Given the description of an element on the screen output the (x, y) to click on. 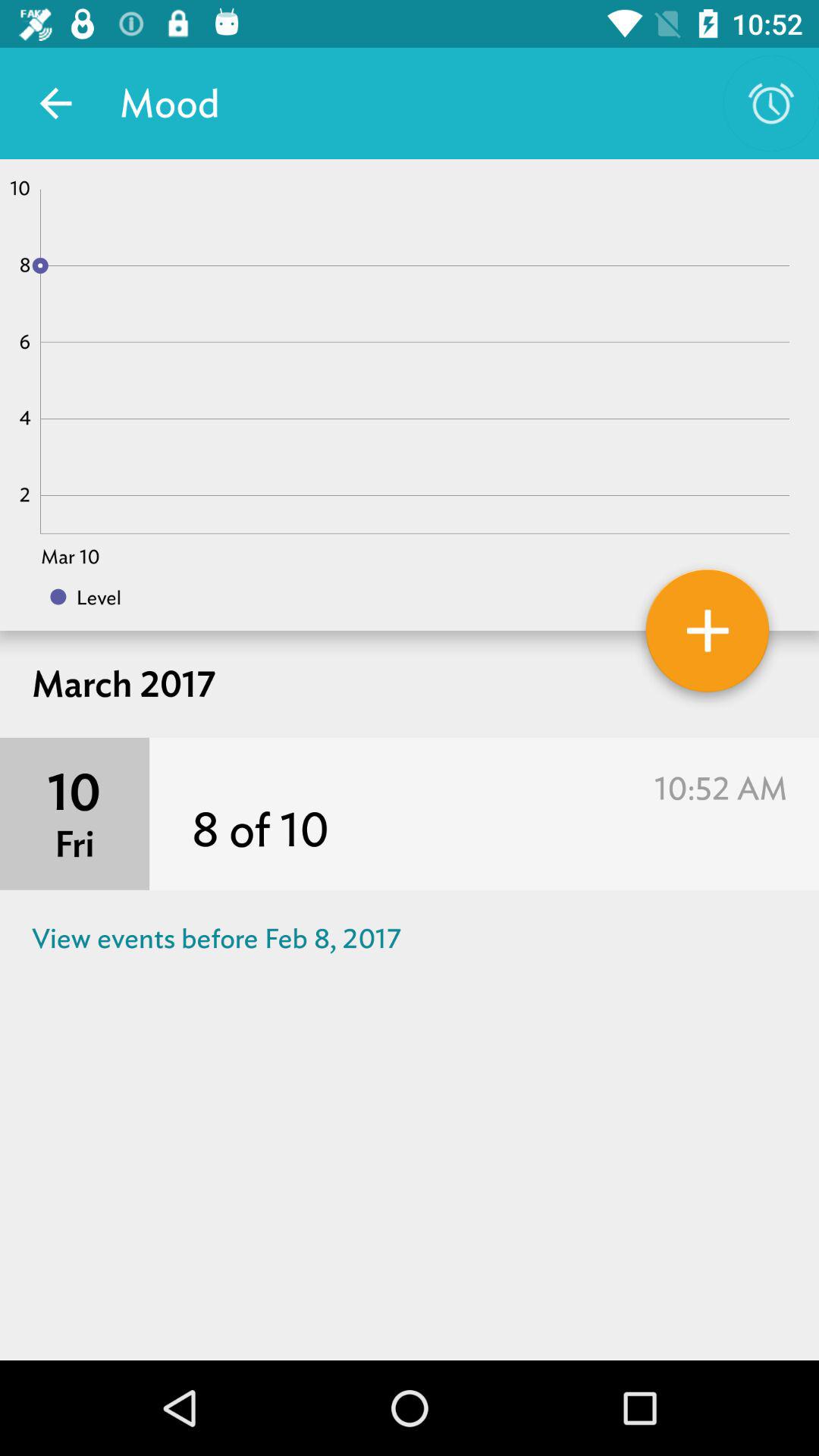
add event (707, 636)
